Given the description of an element on the screen output the (x, y) to click on. 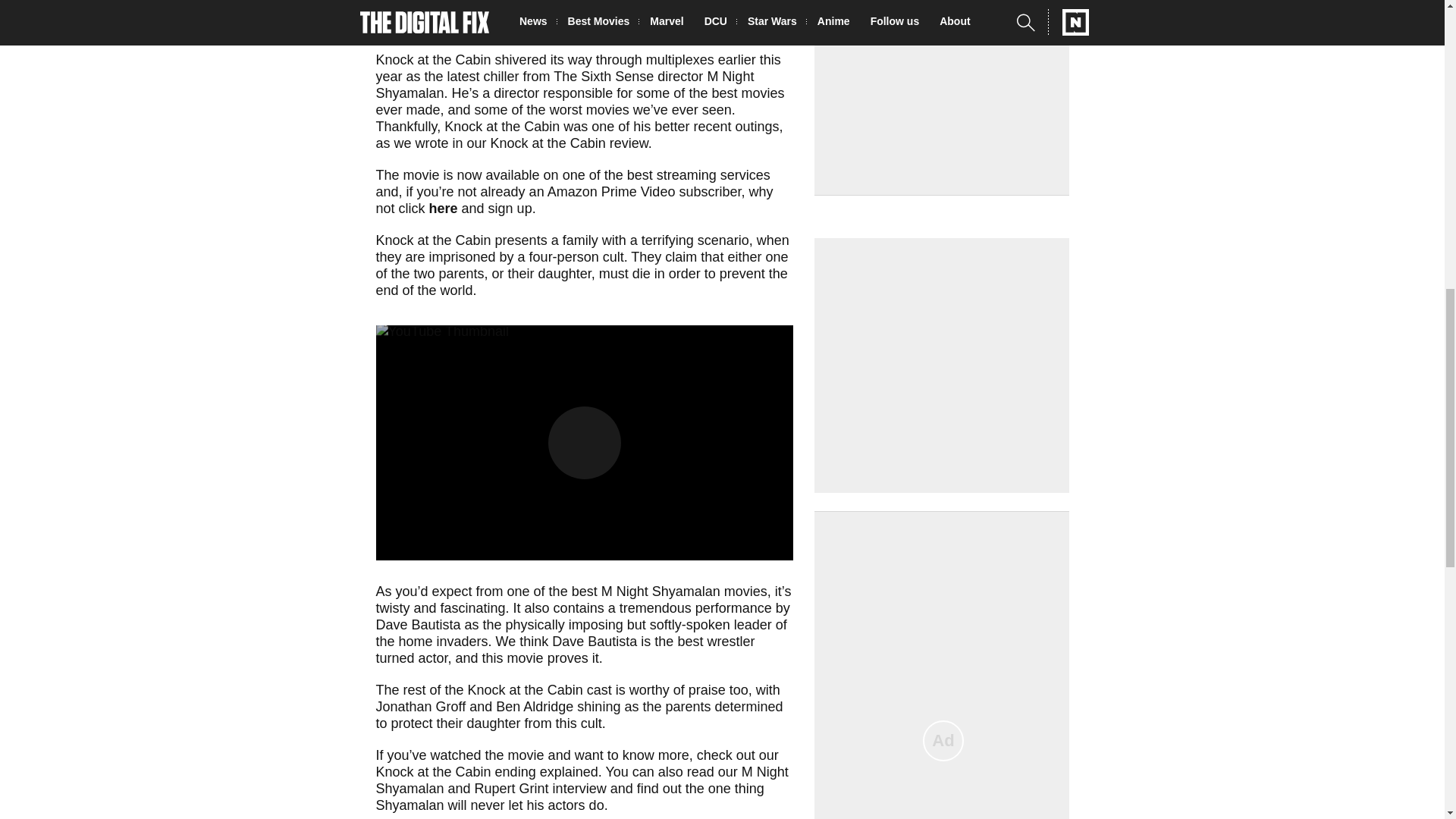
best movies (747, 92)
new movies (692, 11)
Amazon Prime (646, 1)
M Night Shyamalan (564, 84)
Knock at the Cabin (433, 59)
